Given the description of an element on the screen output the (x, y) to click on. 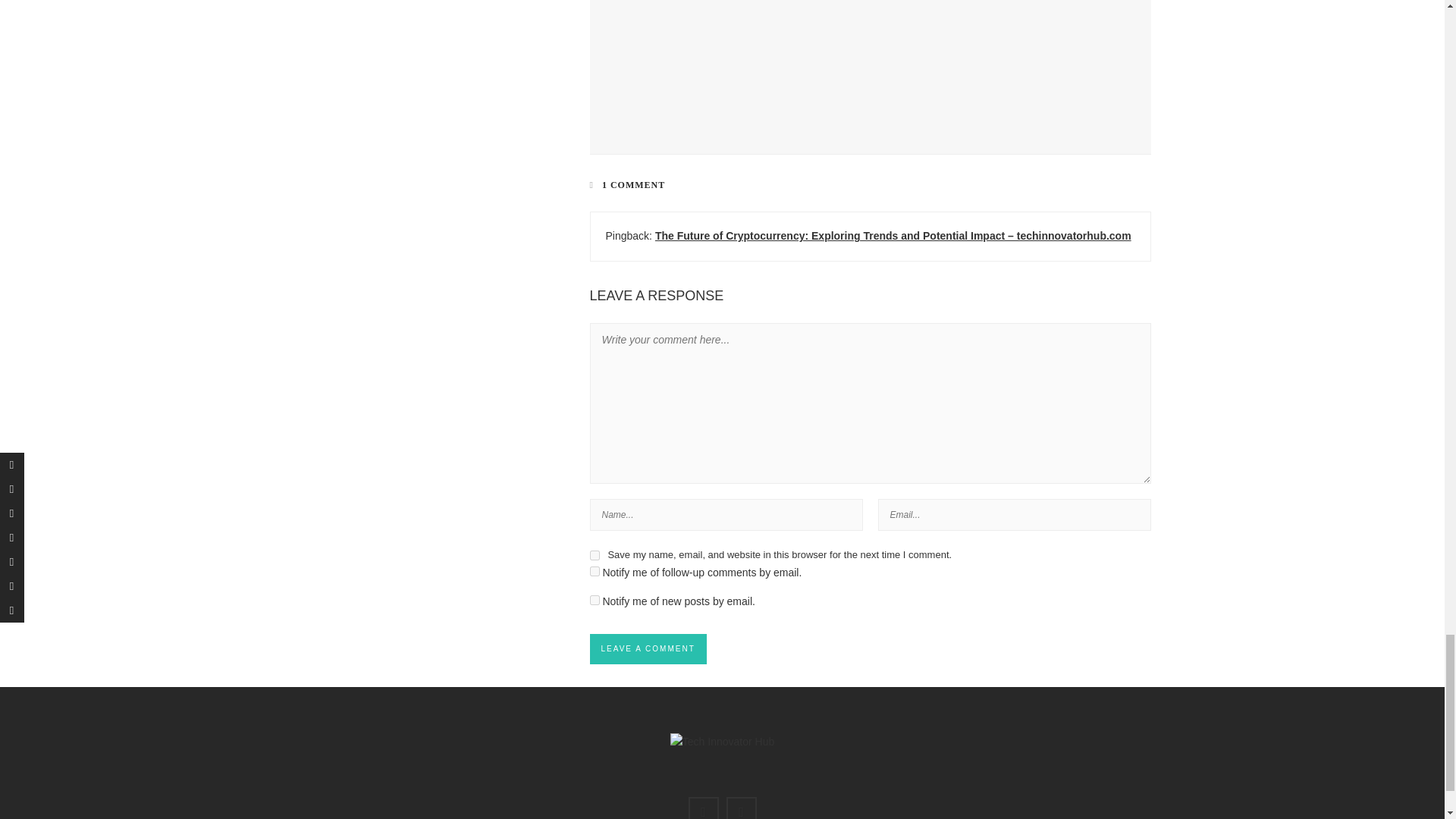
subscribe (594, 600)
subscribe (594, 571)
Leave a comment (647, 648)
yes (594, 555)
